Given the description of an element on the screen output the (x, y) to click on. 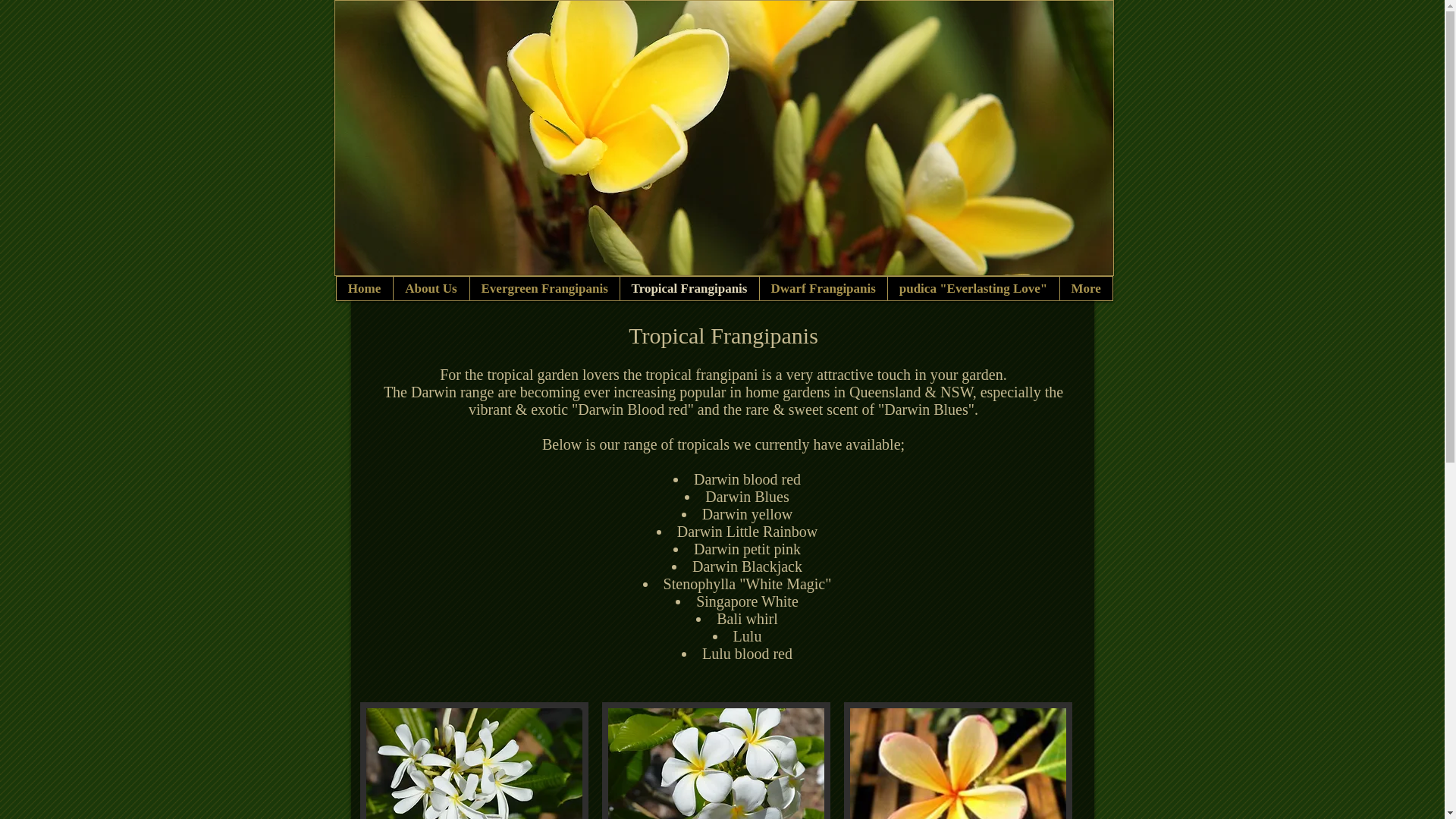
Evergreen Frangipanis Element type: text (543, 288)
Dwarf Frangipanis Element type: text (822, 288)
About Us Element type: text (430, 288)
pudica "Everlasting Love" Element type: text (973, 288)
Home Element type: text (364, 288)
Tropical Frangipanis Element type: text (688, 288)
